Given the description of an element on the screen output the (x, y) to click on. 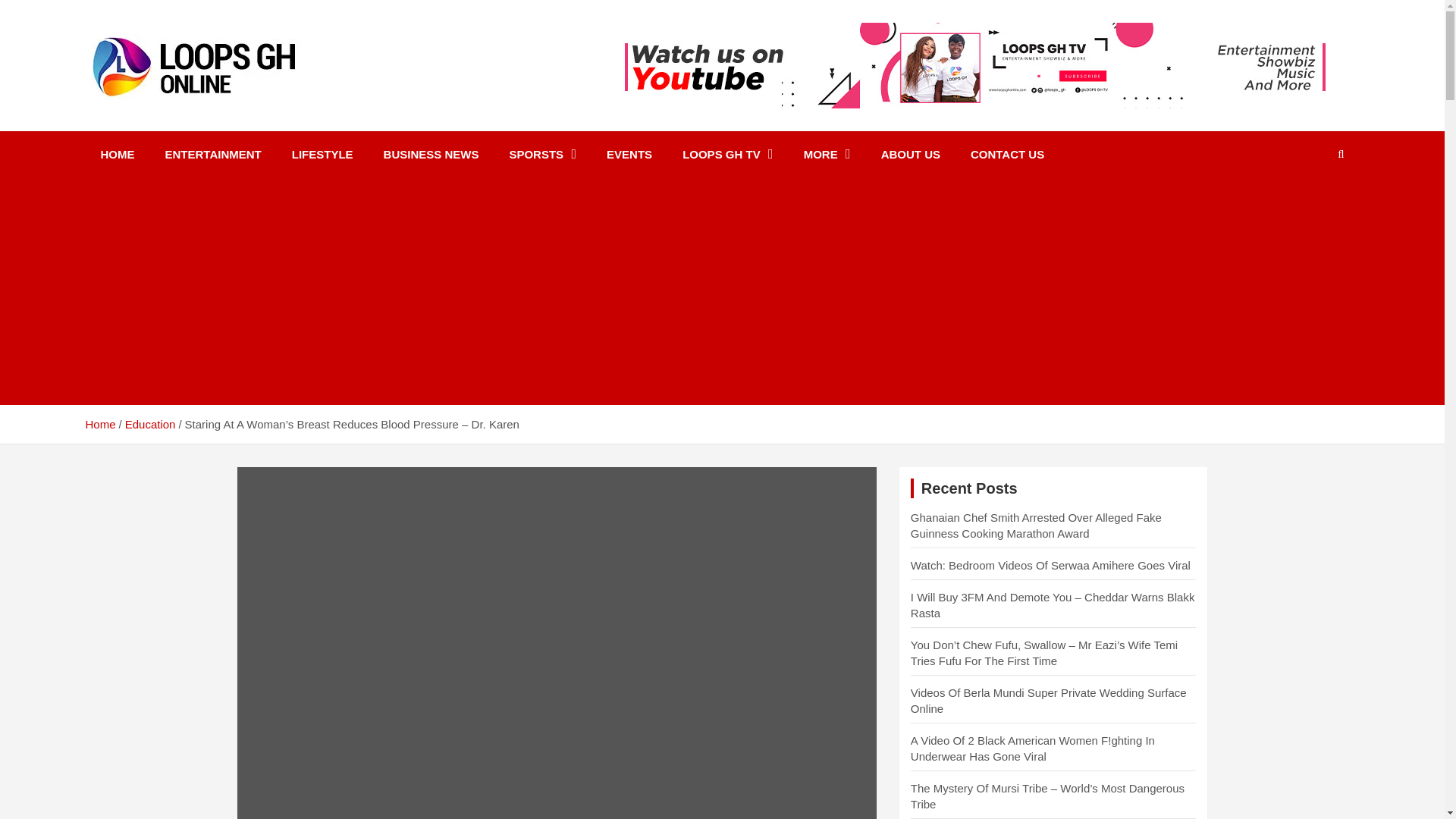
CONTACT US (1007, 154)
MORE (827, 154)
EVENTS (628, 154)
HOME (116, 154)
Education (150, 423)
ENTERTAINMENT (212, 154)
LIFESTYLE (322, 154)
ABOUT US (910, 154)
Loops Gh Online (206, 118)
Home (99, 423)
BUSINESS NEWS (431, 154)
LOOPS GH TV (727, 154)
SPORSTS (542, 154)
